Given the description of an element on the screen output the (x, y) to click on. 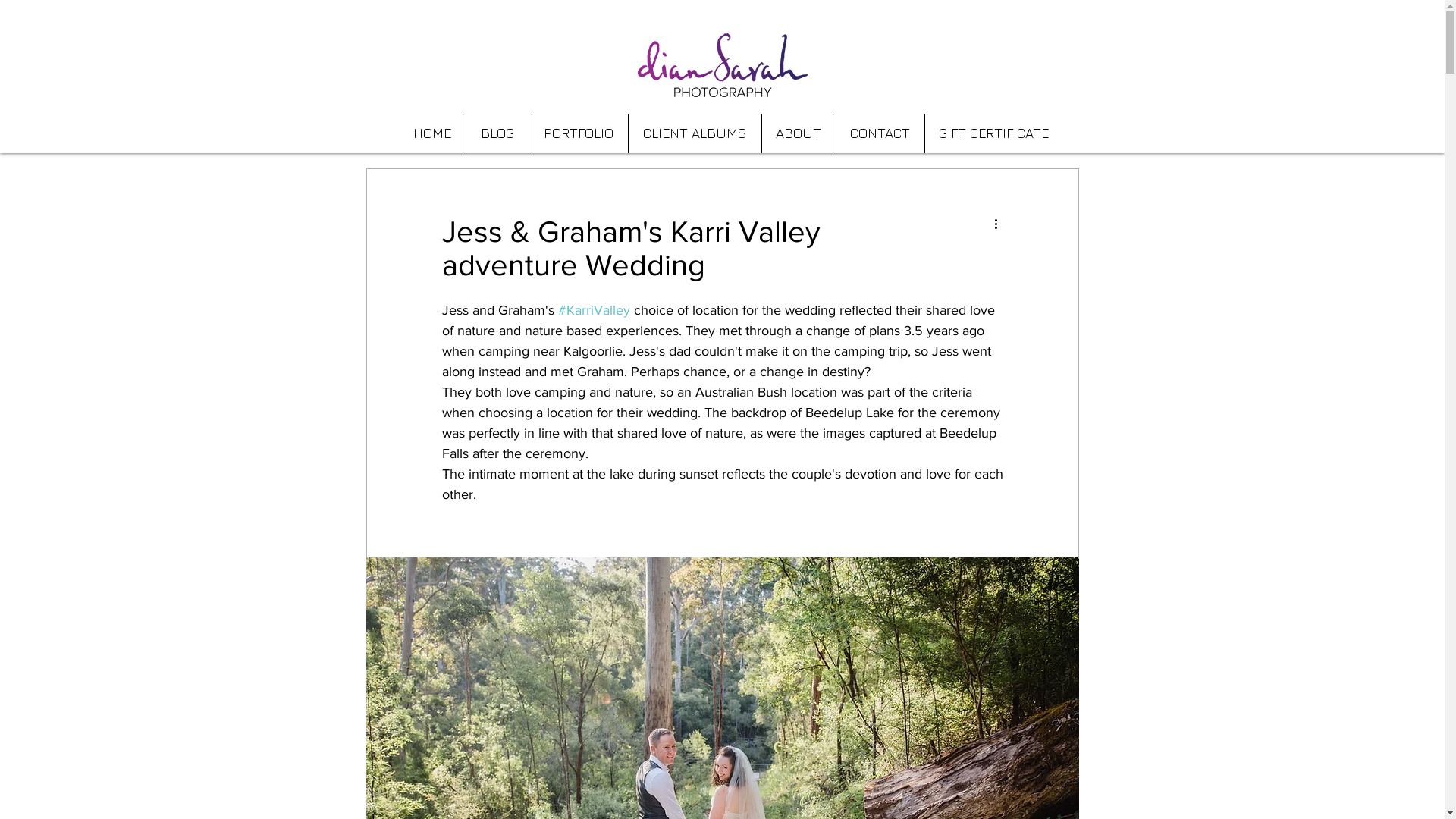
ABOUT Element type: text (797, 133)
CONTACT Element type: text (879, 133)
BLOG Element type: text (496, 133)
GIFT CERTIFICATE Element type: text (994, 133)
HOME Element type: text (431, 133)
#KarriValley Element type: text (594, 309)
DianSarahLogo.png Element type: hover (721, 64)
CLIENT ALBUMS Element type: text (693, 133)
